Given the description of an element on the screen output the (x, y) to click on. 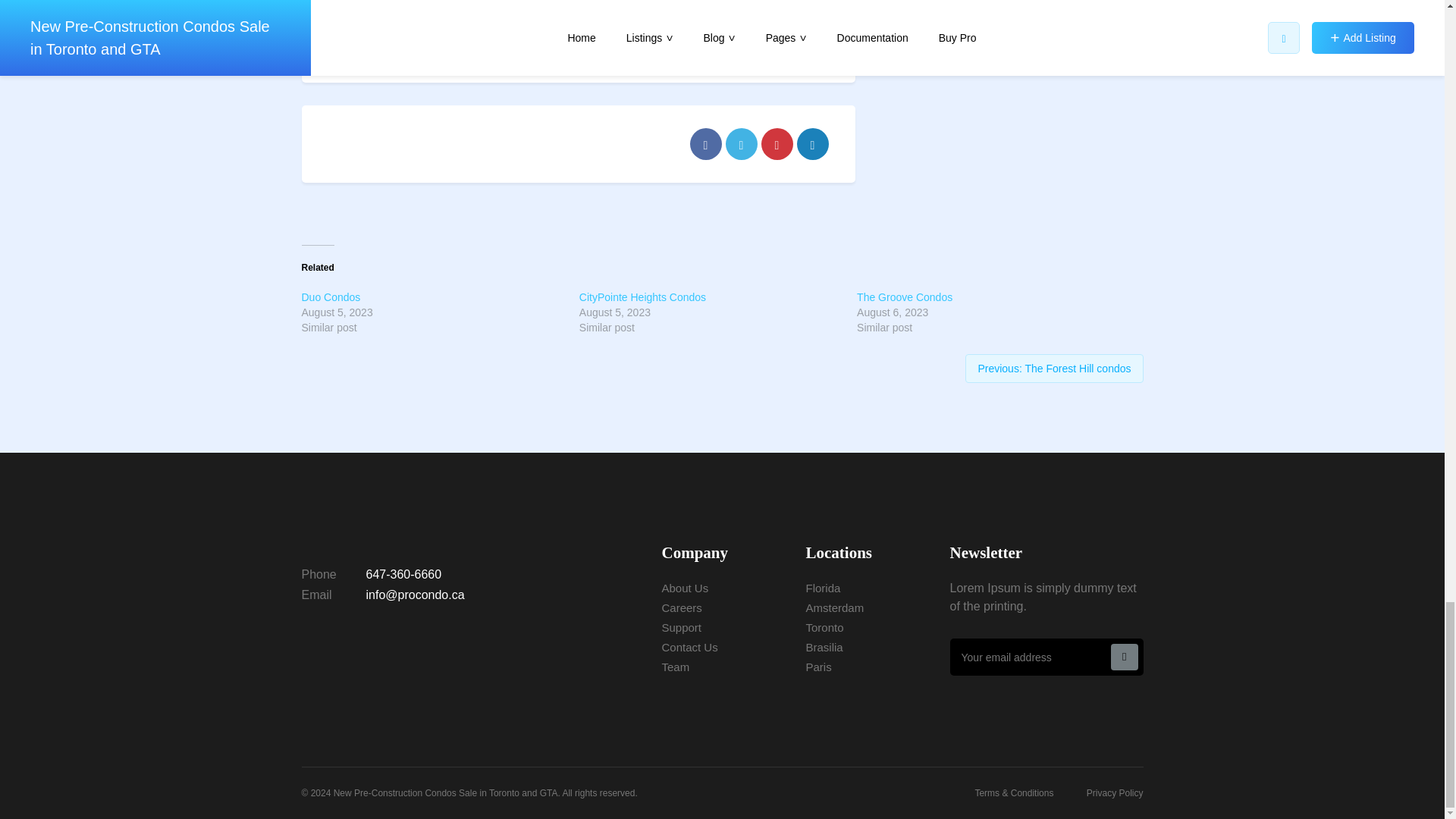
The Groove Condos (904, 297)
Tweet (741, 143)
Pin it (777, 143)
CityPointe Heights Condos (642, 297)
Duo Condos (331, 297)
Linkedin (812, 143)
Share on Facebook (706, 143)
